Given the description of an element on the screen output the (x, y) to click on. 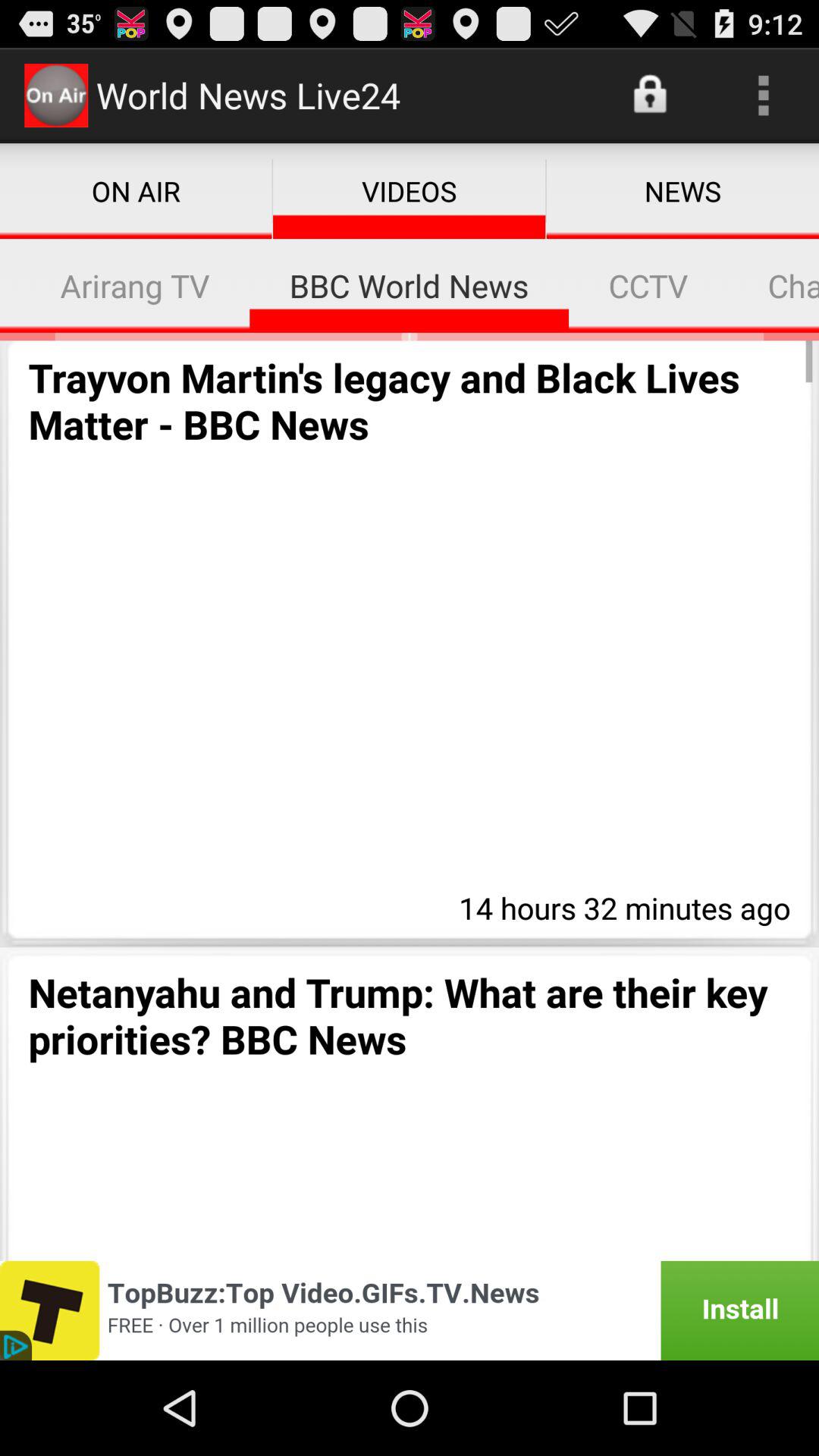
turn on the item above the trayvon martin s (10, 285)
